Given the description of an element on the screen output the (x, y) to click on. 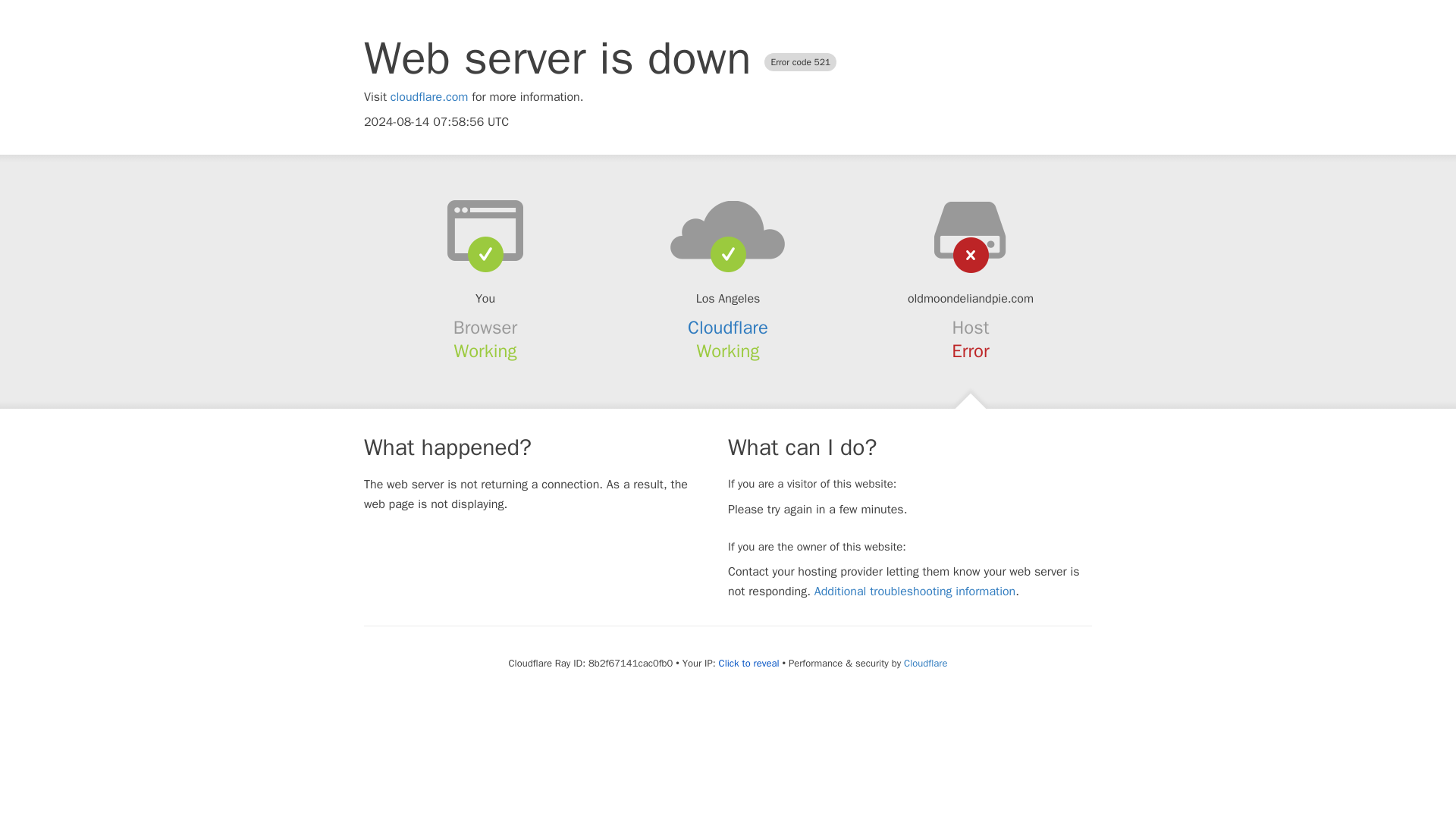
Cloudflare (727, 327)
Additional troubleshooting information (913, 590)
Cloudflare (925, 662)
cloudflare.com (429, 96)
Click to reveal (748, 663)
